Given the description of an element on the screen output the (x, y) to click on. 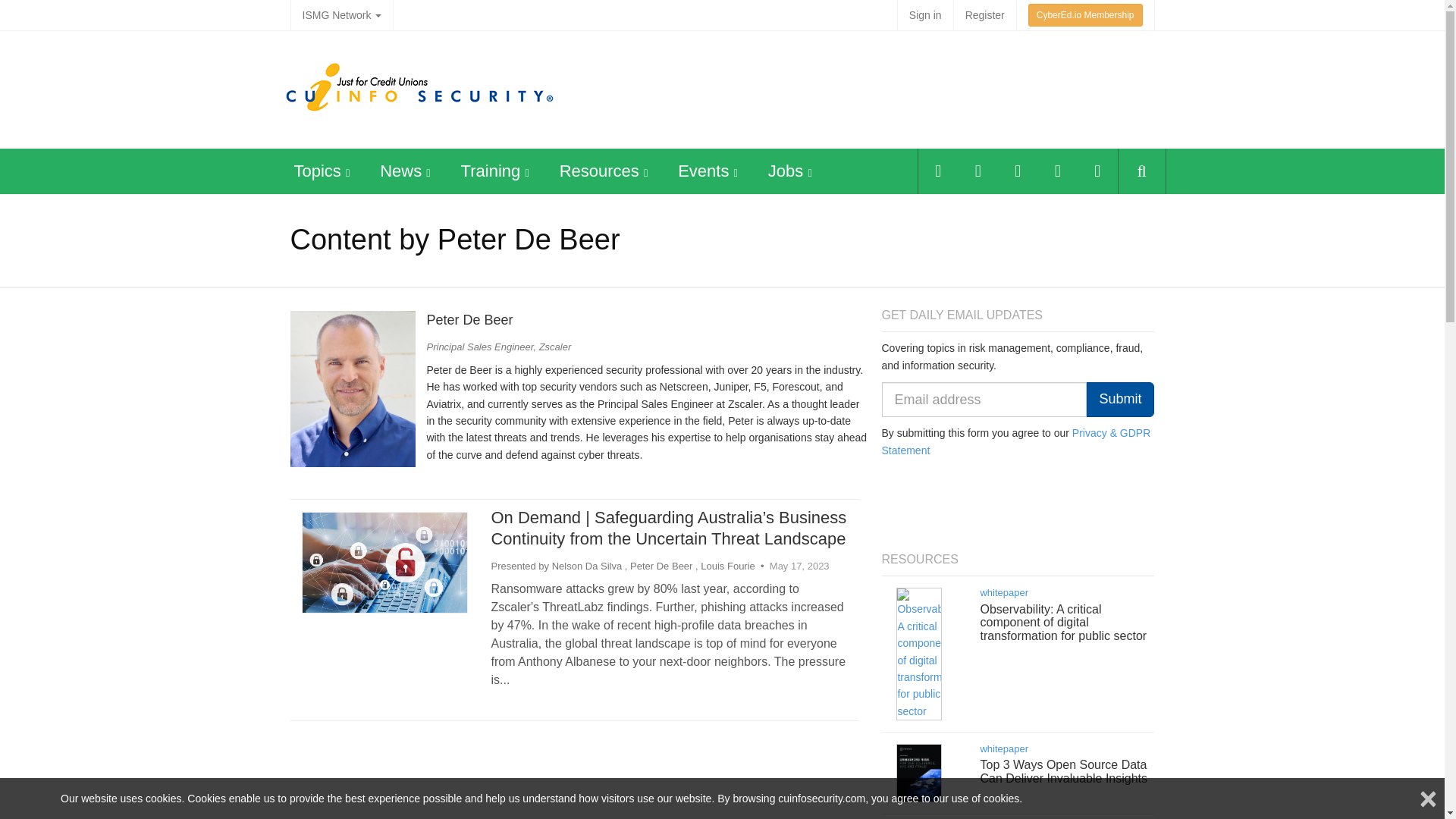
Register (984, 15)
CyberEd.io Membership (1084, 15)
Sign in (925, 15)
ISMG Network (341, 15)
Topics (317, 170)
